Given the description of an element on the screen output the (x, y) to click on. 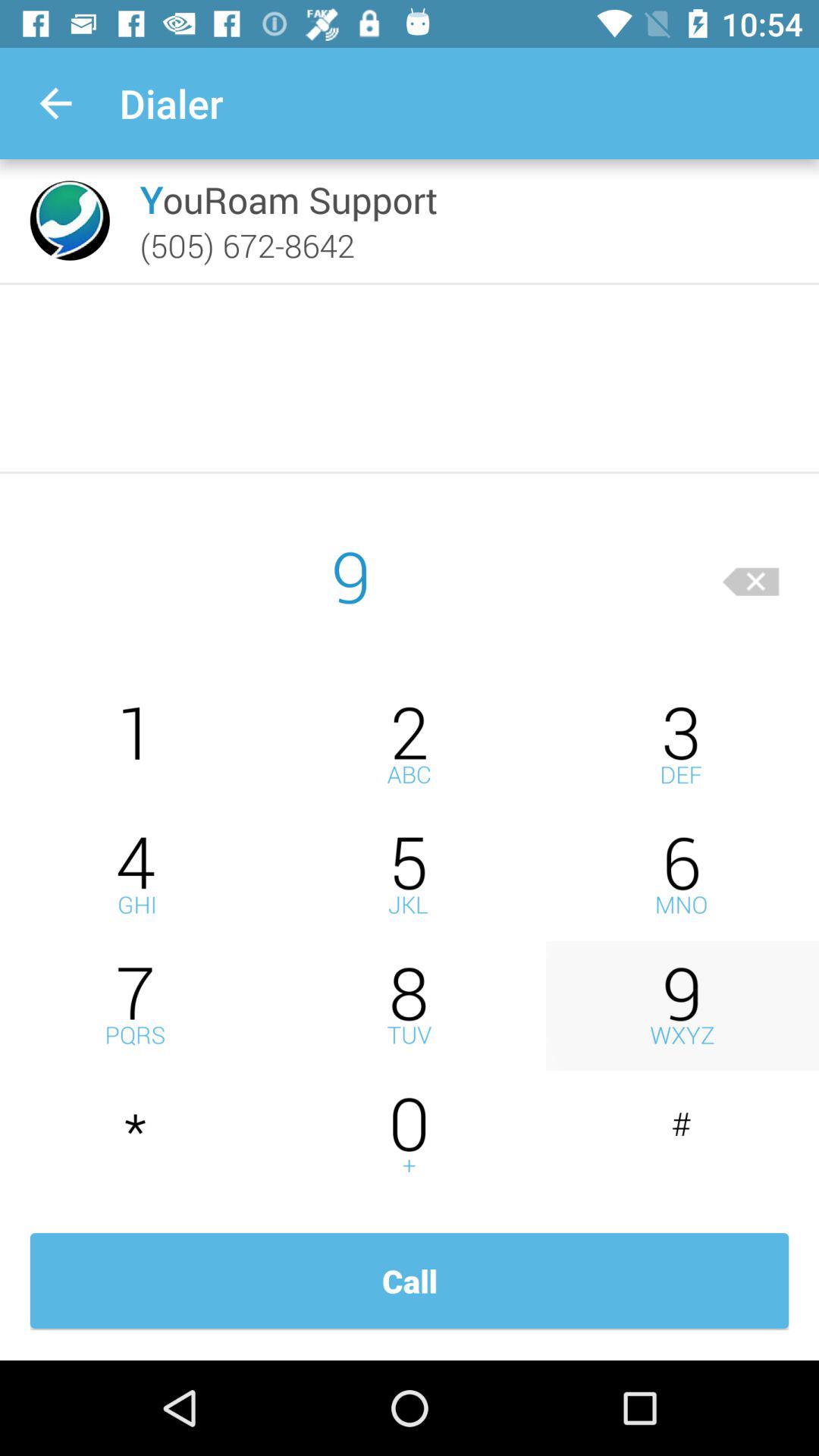
number 8 icon (409, 1005)
